Given the description of an element on the screen output the (x, y) to click on. 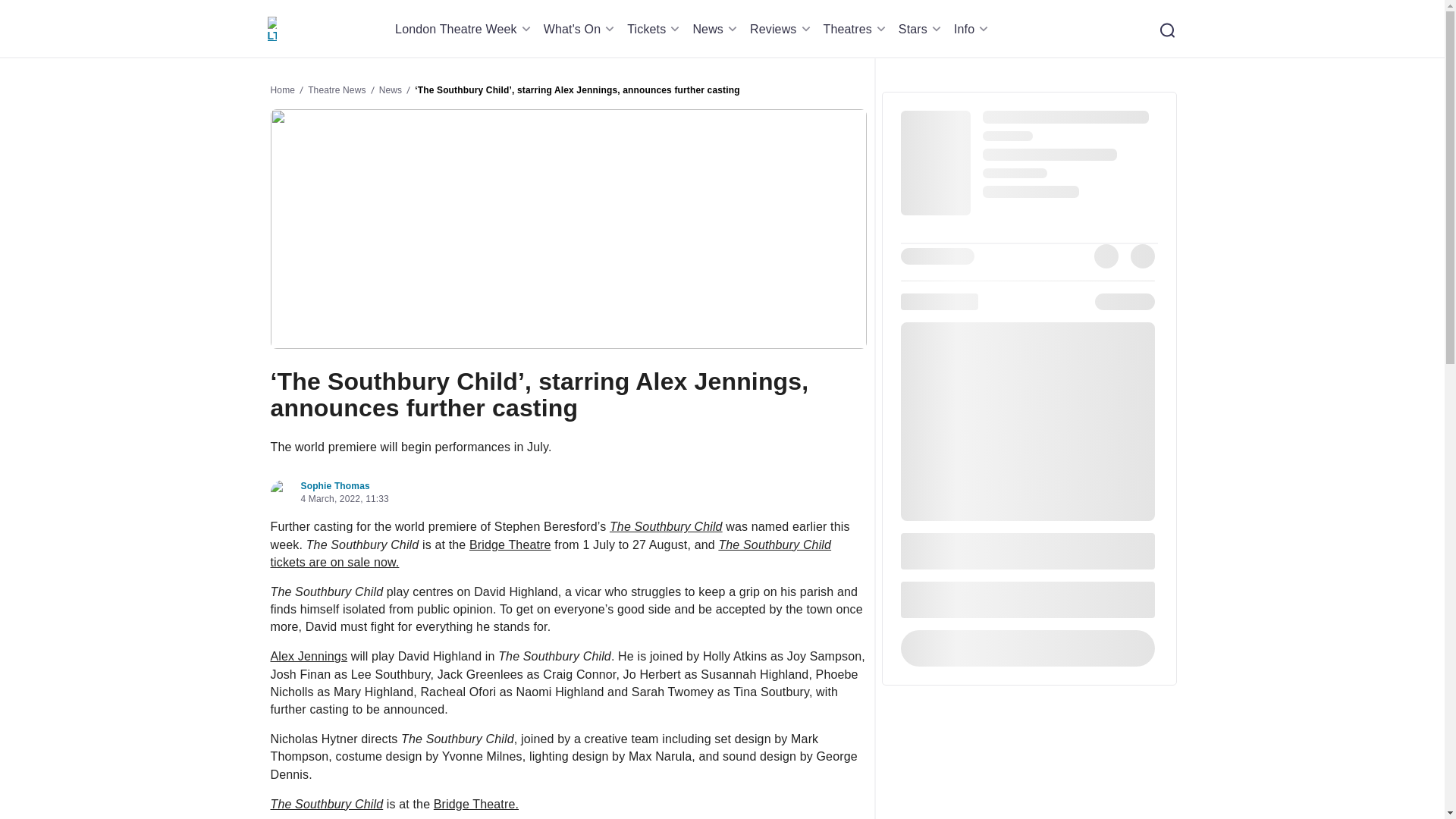
What's On (581, 28)
Tickets (655, 28)
London Theatre Week (464, 28)
